Given the description of an element on the screen output the (x, y) to click on. 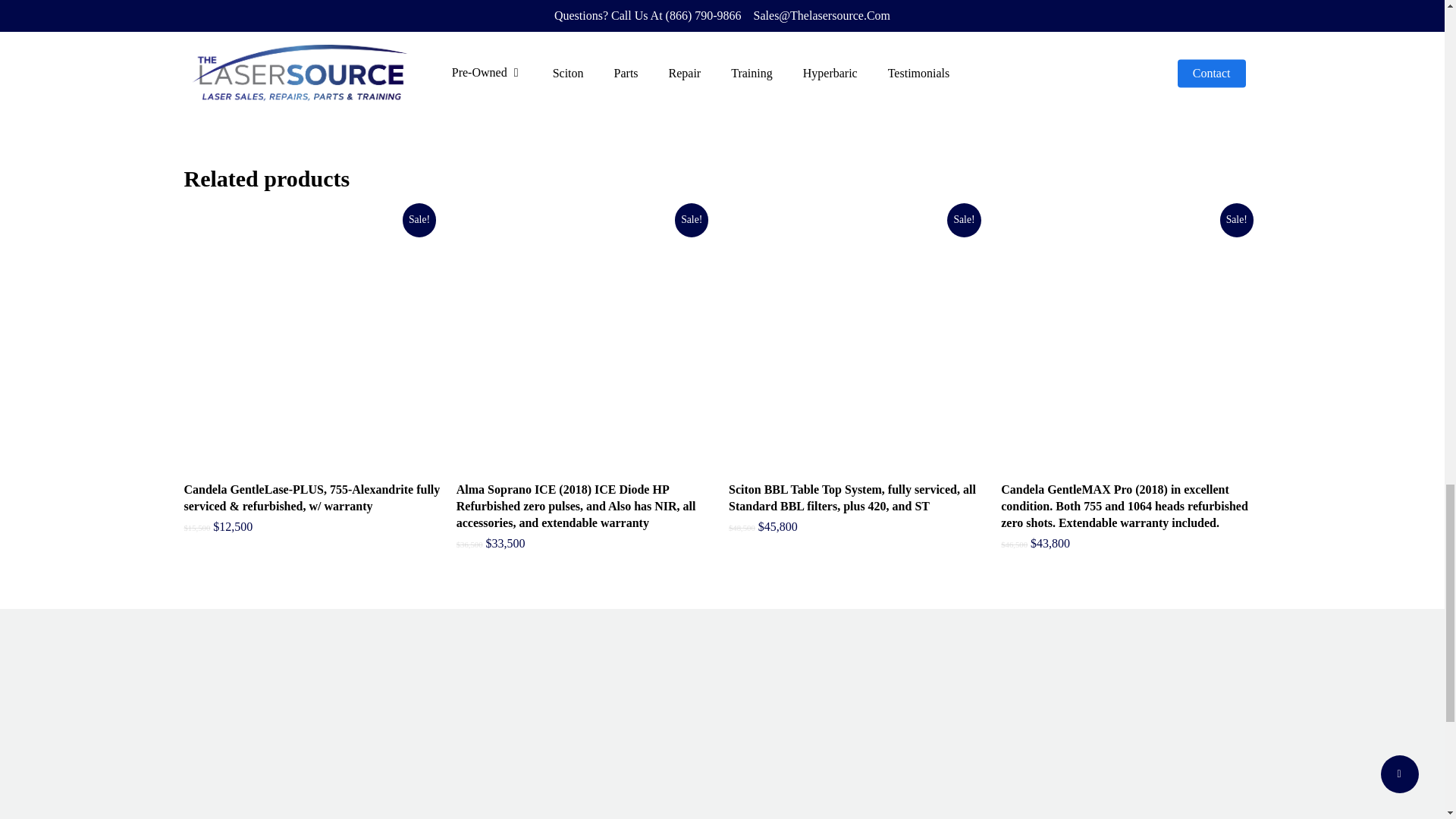
Send (213, 96)
